Given the description of an element on the screen output the (x, y) to click on. 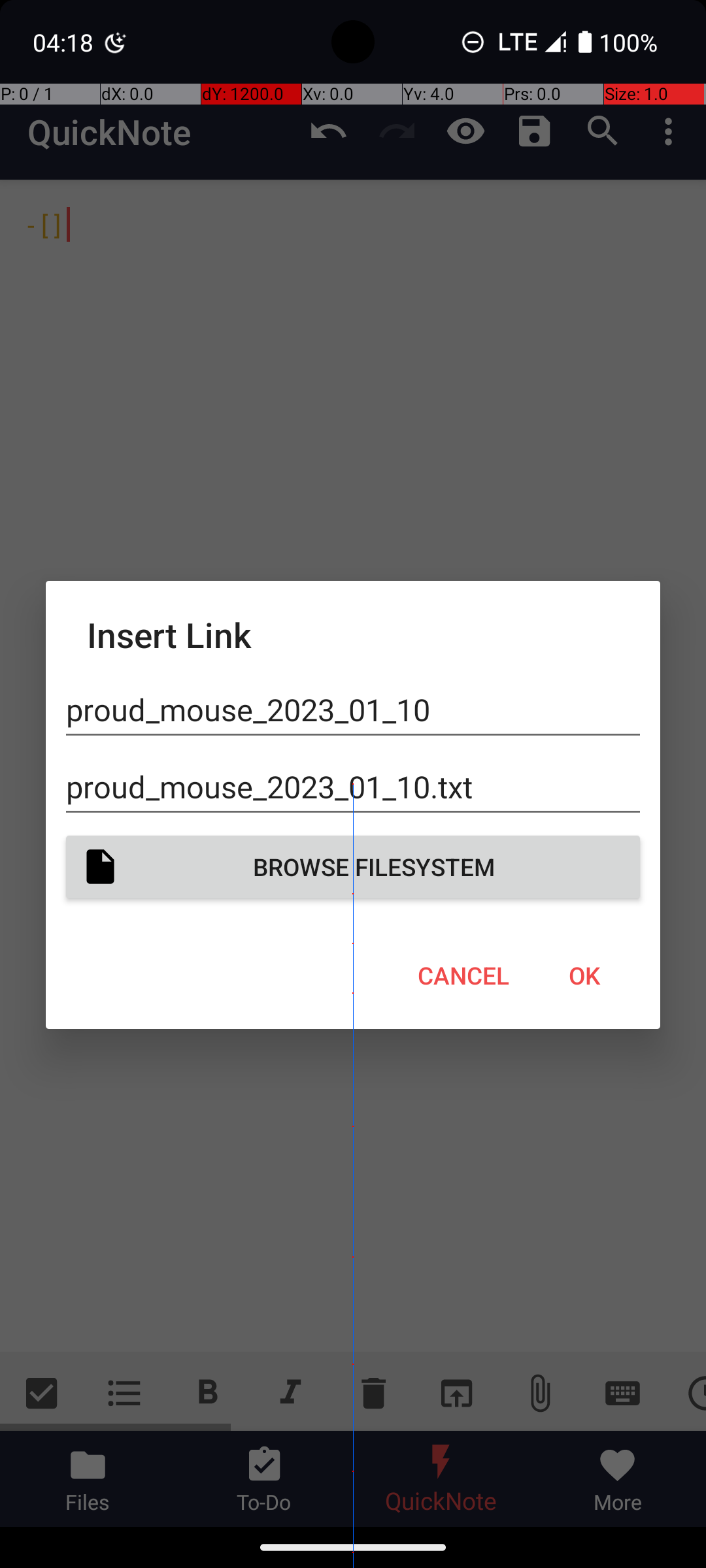
proud_mouse_2023_01_10 Element type: android.widget.EditText (352, 709)
proud_mouse_2023_01_10.txt Element type: android.widget.EditText (352, 786)
BROWSE FILESYSTEM Element type: android.widget.Button (352, 866)
04:18 Element type: android.widget.TextView (64, 41)
Digital Wellbeing notification: Bedtime mode is on Element type: android.widget.ImageView (115, 41)
